Given the description of an element on the screen output the (x, y) to click on. 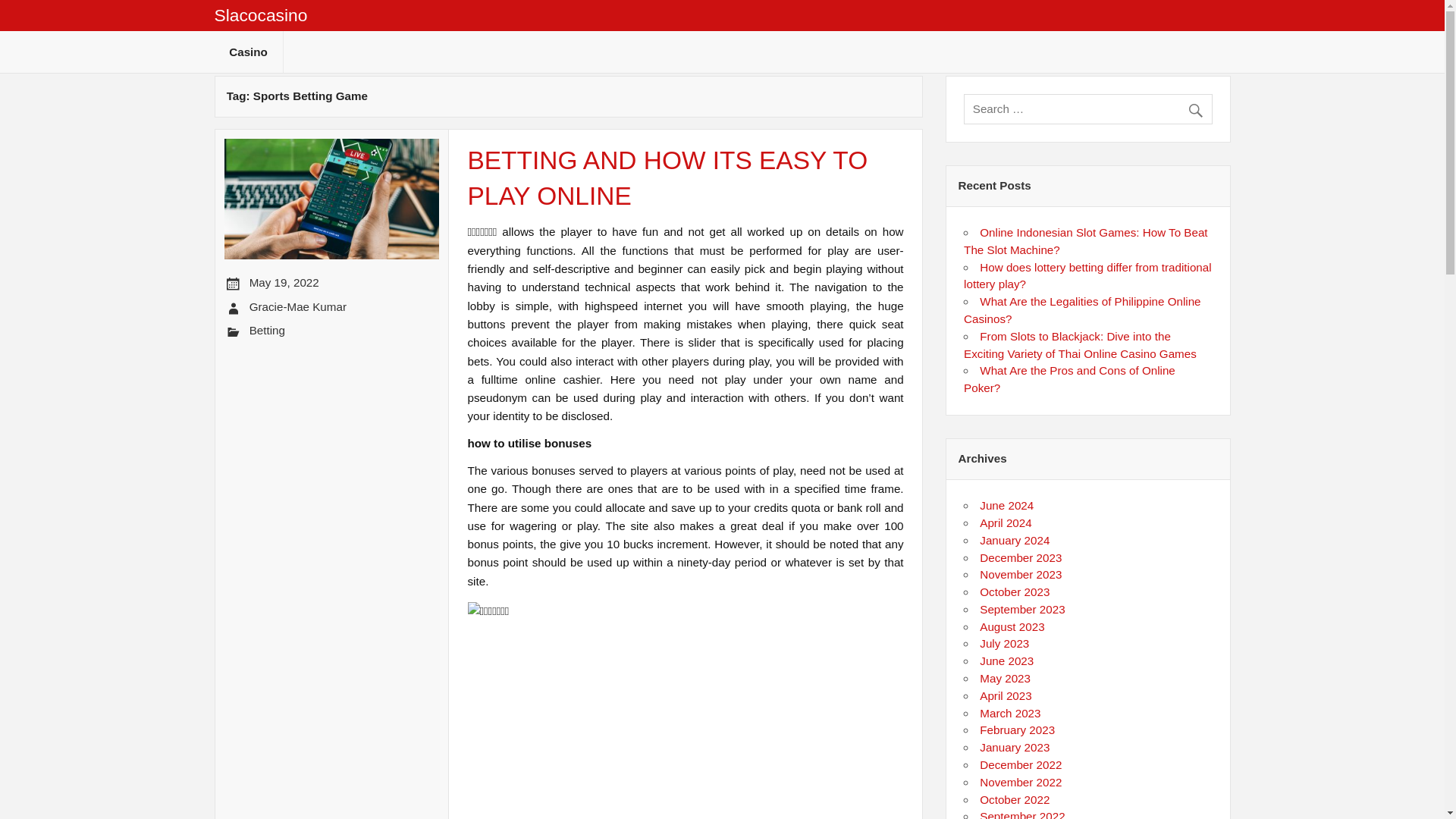
March 2023 (1010, 712)
October 2023 (1014, 591)
June 2023 (1006, 660)
January 2023 (1014, 747)
BETTING AND HOW ITS EASY TO PLAY ONLINE (667, 177)
Online Indonesian Slot Games: How To Beat The Slot Machine? (1085, 241)
10:55 am (283, 282)
What Are the Legalities of Philippine Online Casinos? (1081, 309)
